Given the description of an element on the screen output the (x, y) to click on. 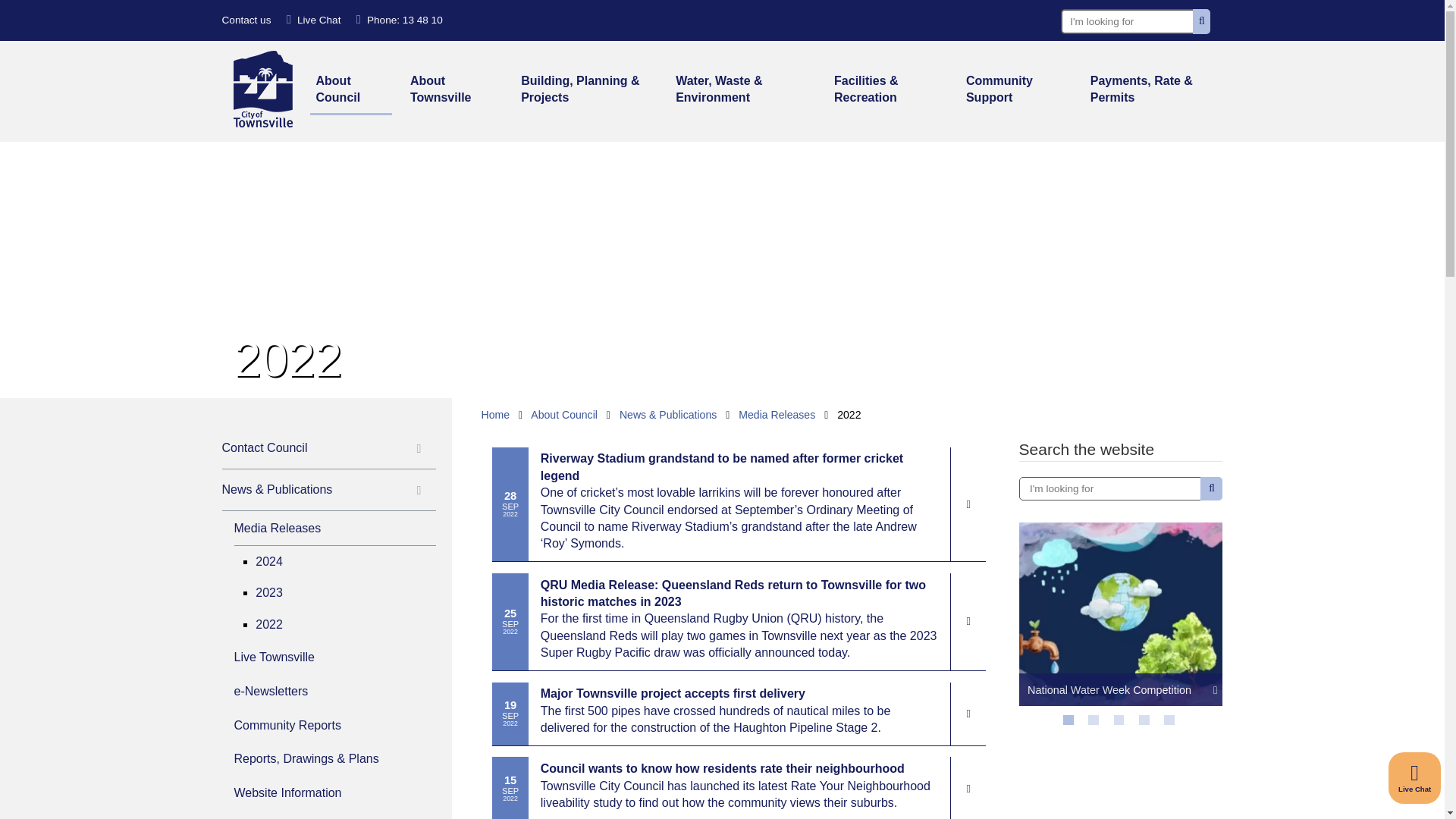
Live Chat (1415, 777)
Phone: 13 48 10 (399, 20)
Live Chat (313, 20)
Contact us (245, 20)
Chat with a Townsville City Council representative. (313, 20)
About Council (349, 90)
Chat with a Townsville City Council representative. (1415, 777)
